Given the description of an element on the screen output the (x, y) to click on. 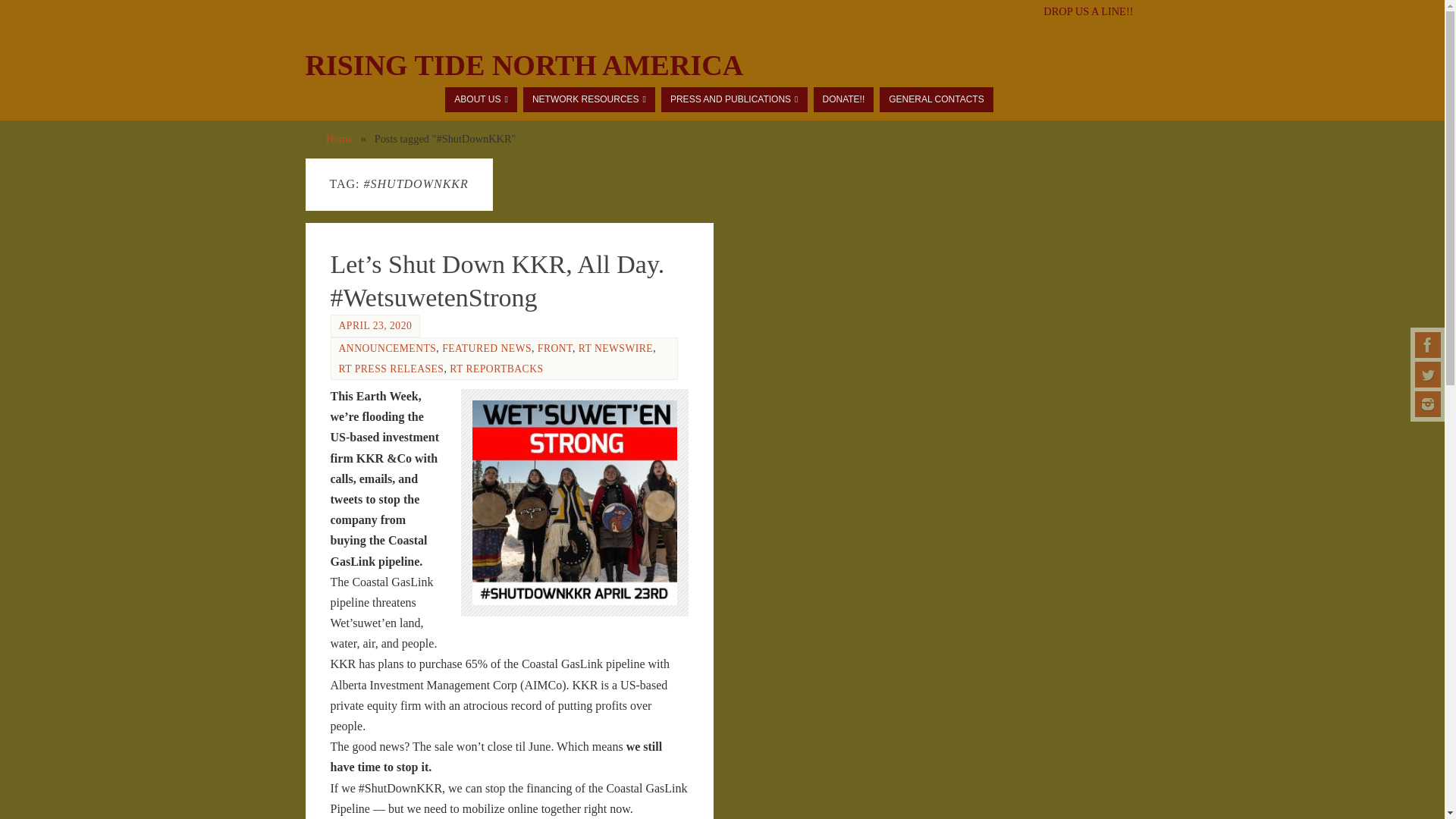
PRESS AND PUBLICATIONS (734, 98)
GENERAL CONTACTS (935, 98)
Home (339, 138)
Rising Tide North America (523, 64)
Instagram (1428, 403)
RISING TIDE NORTH AMERICA (523, 64)
DROP US A LINE!! (1088, 11)
ANNOUNCEMENTS (386, 348)
APRIL 23, 2020 (374, 325)
Twitter (1428, 374)
ABOUT US (480, 98)
NETWORK RESOURCES (588, 98)
Facebook (1428, 344)
DONATE!! (842, 98)
